Given the description of an element on the screen output the (x, y) to click on. 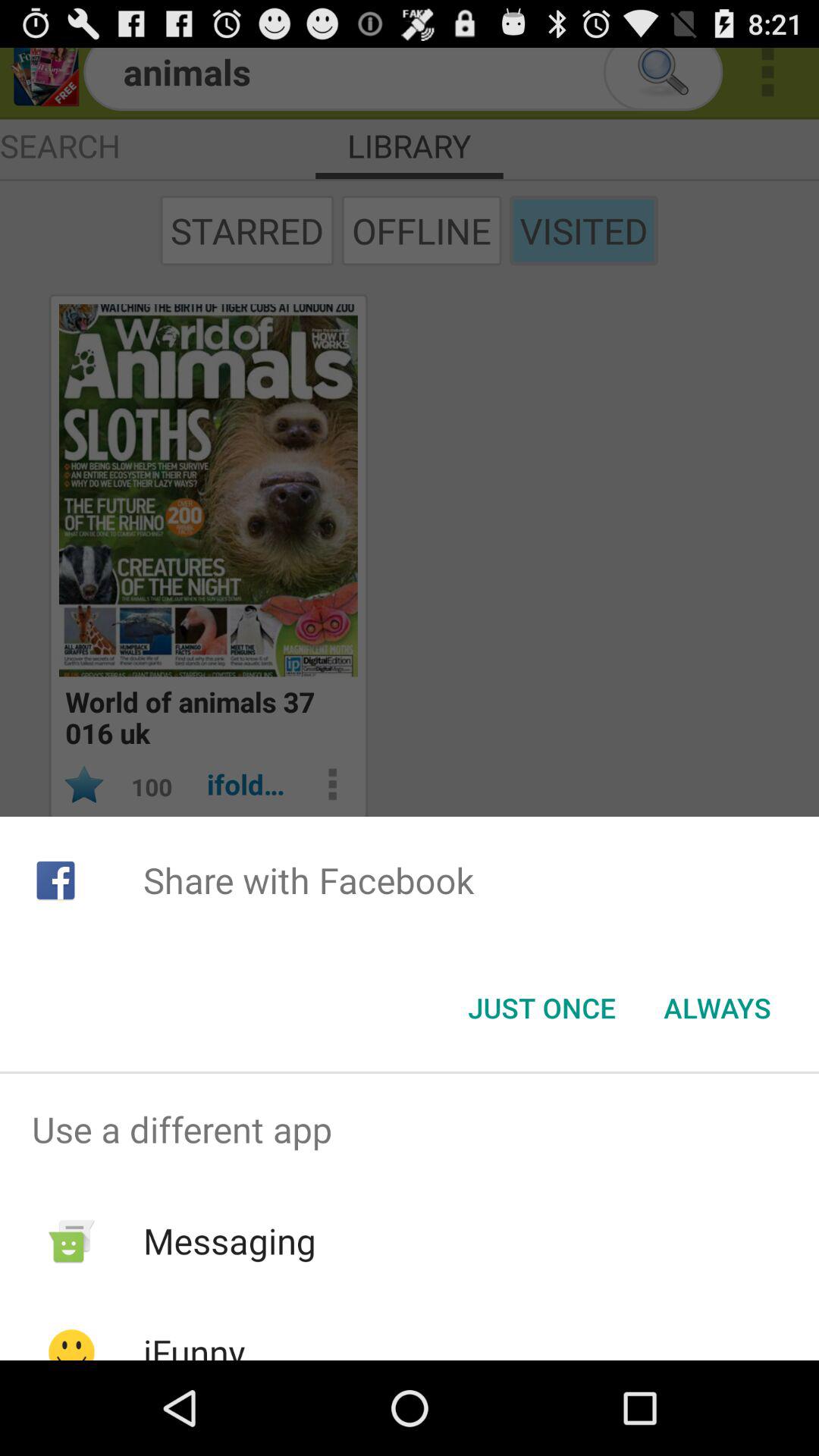
tap always icon (717, 1007)
